Given the description of an element on the screen output the (x, y) to click on. 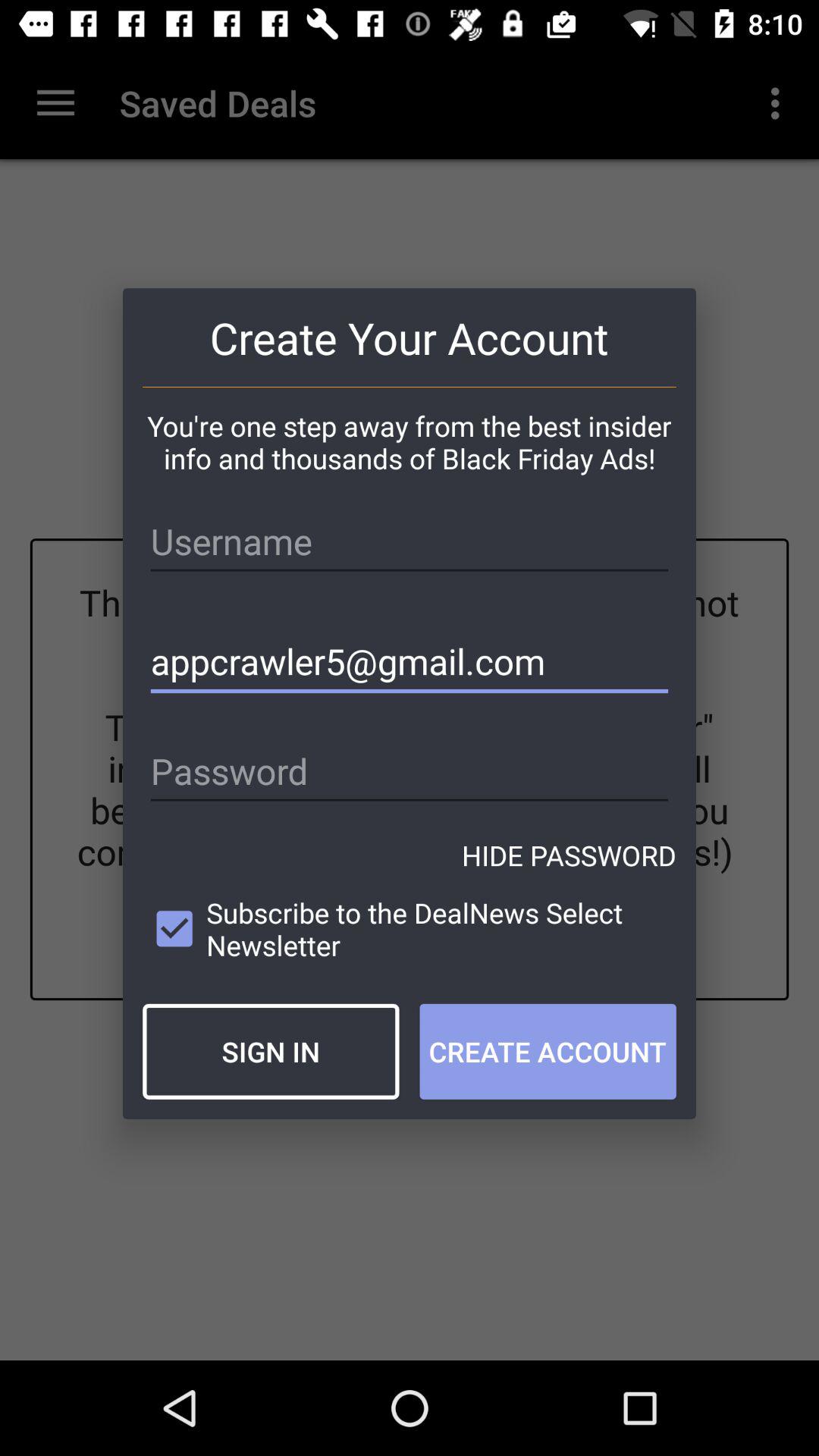
click the hide password item (568, 855)
